Given the description of an element on the screen output the (x, y) to click on. 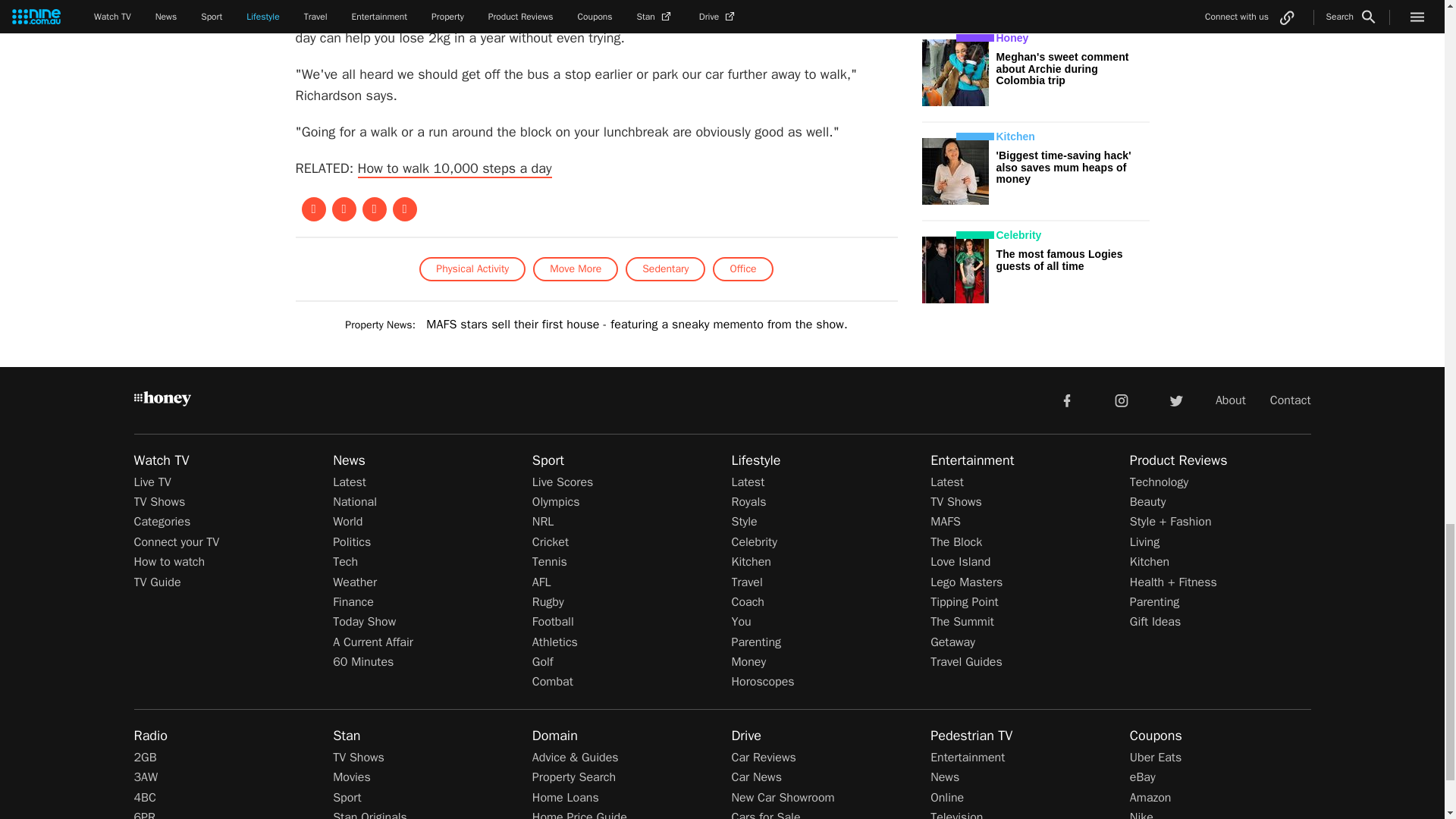
facebook (1066, 399)
twitter (1175, 399)
Sedentary (665, 269)
Move More (574, 269)
How to walk 10,000 steps a day (454, 168)
instagram (1121, 399)
Physical Activity (472, 269)
at least 10,000 steps (594, 17)
